Given the description of an element on the screen output the (x, y) to click on. 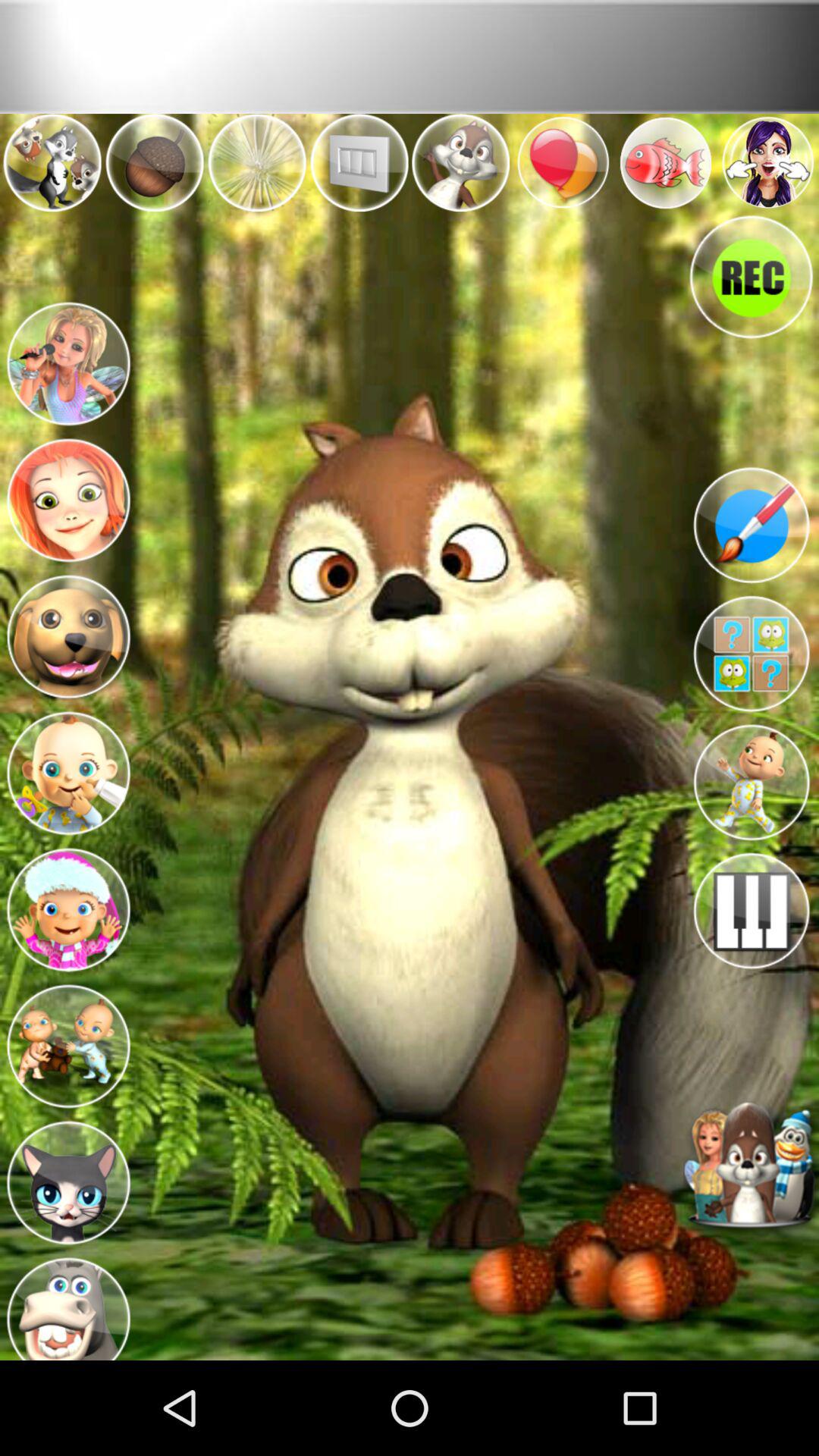
select character (68, 495)
